Given the description of an element on the screen output the (x, y) to click on. 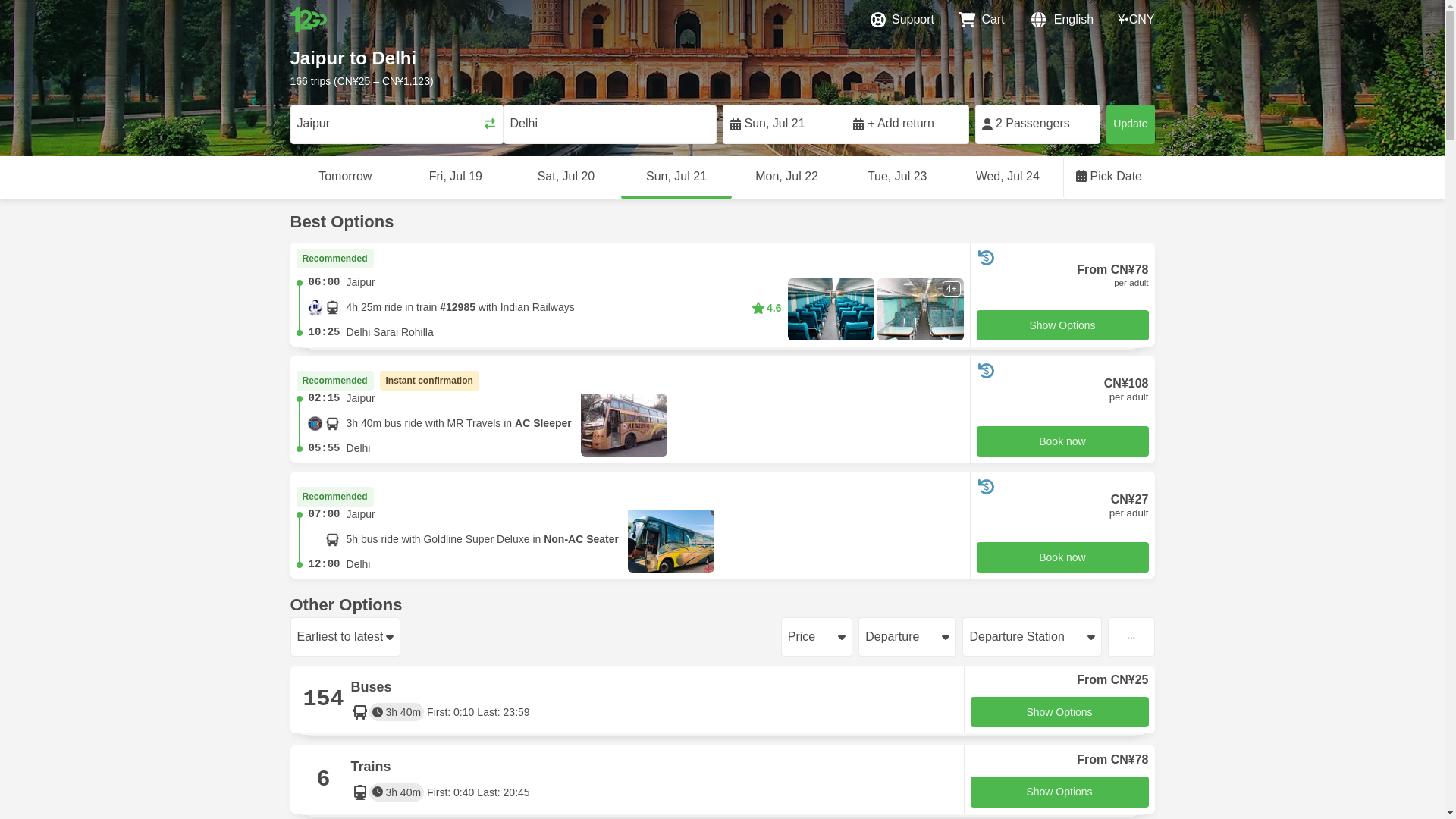
Fri, Jul 19 (455, 177)
Sat, Jul 20 (566, 177)
Update (1130, 124)
Mon, Jul 22 (787, 177)
Book now (1062, 440)
Cart (981, 19)
Show Options (1059, 712)
Tomorrow (344, 177)
Tue, Jul 23 (896, 177)
Book now (1062, 557)
Sun, Jul 21 (676, 177)
Show Options (1059, 791)
Pick Date (1108, 177)
